Given the description of an element on the screen output the (x, y) to click on. 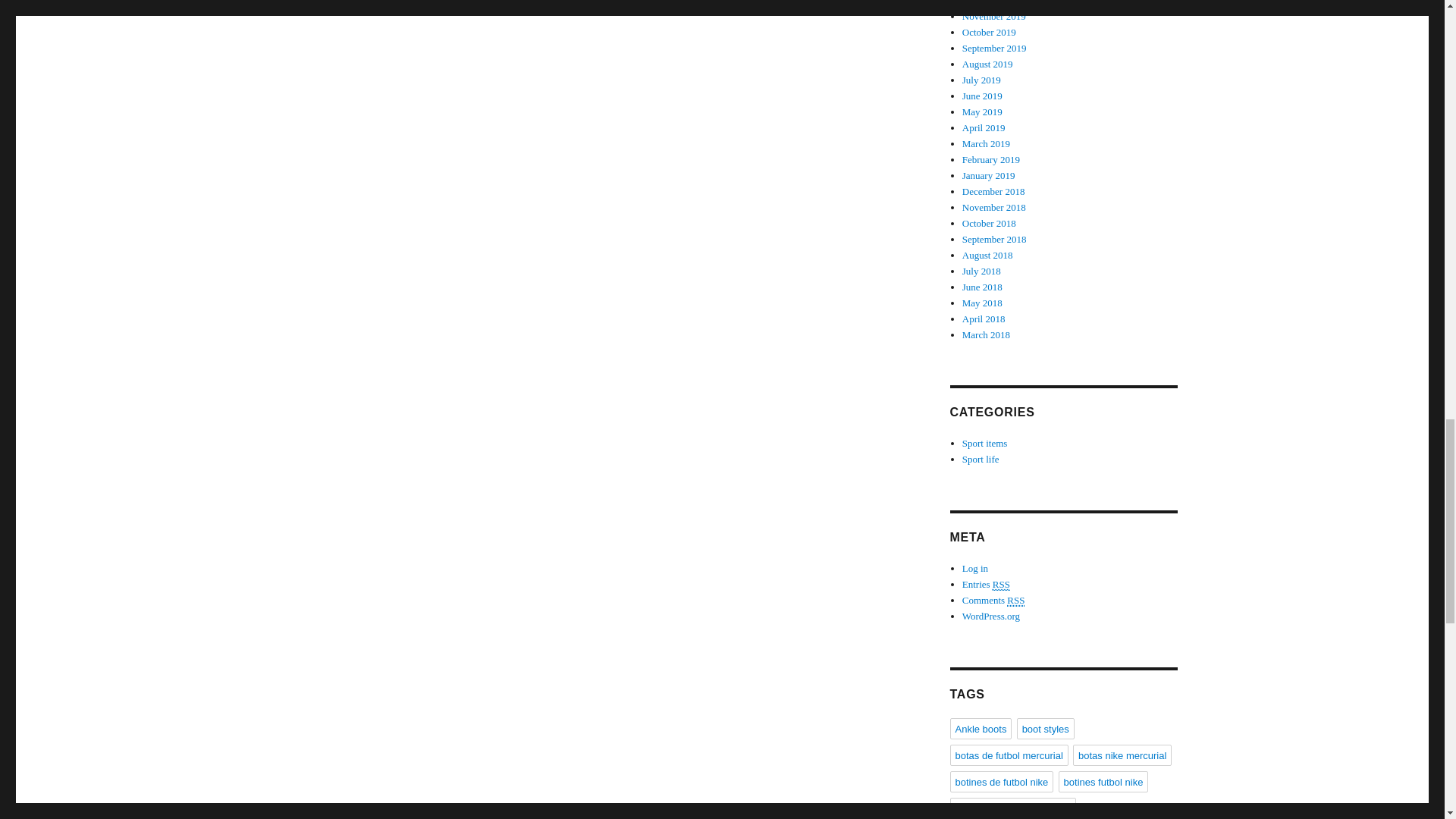
Share some sport items and useful soccer news. (984, 442)
Good sport items and shoes you need to know (980, 459)
Really Simple Syndication (1016, 600)
Really Simple Syndication (1001, 584)
